Given the description of an element on the screen output the (x, y) to click on. 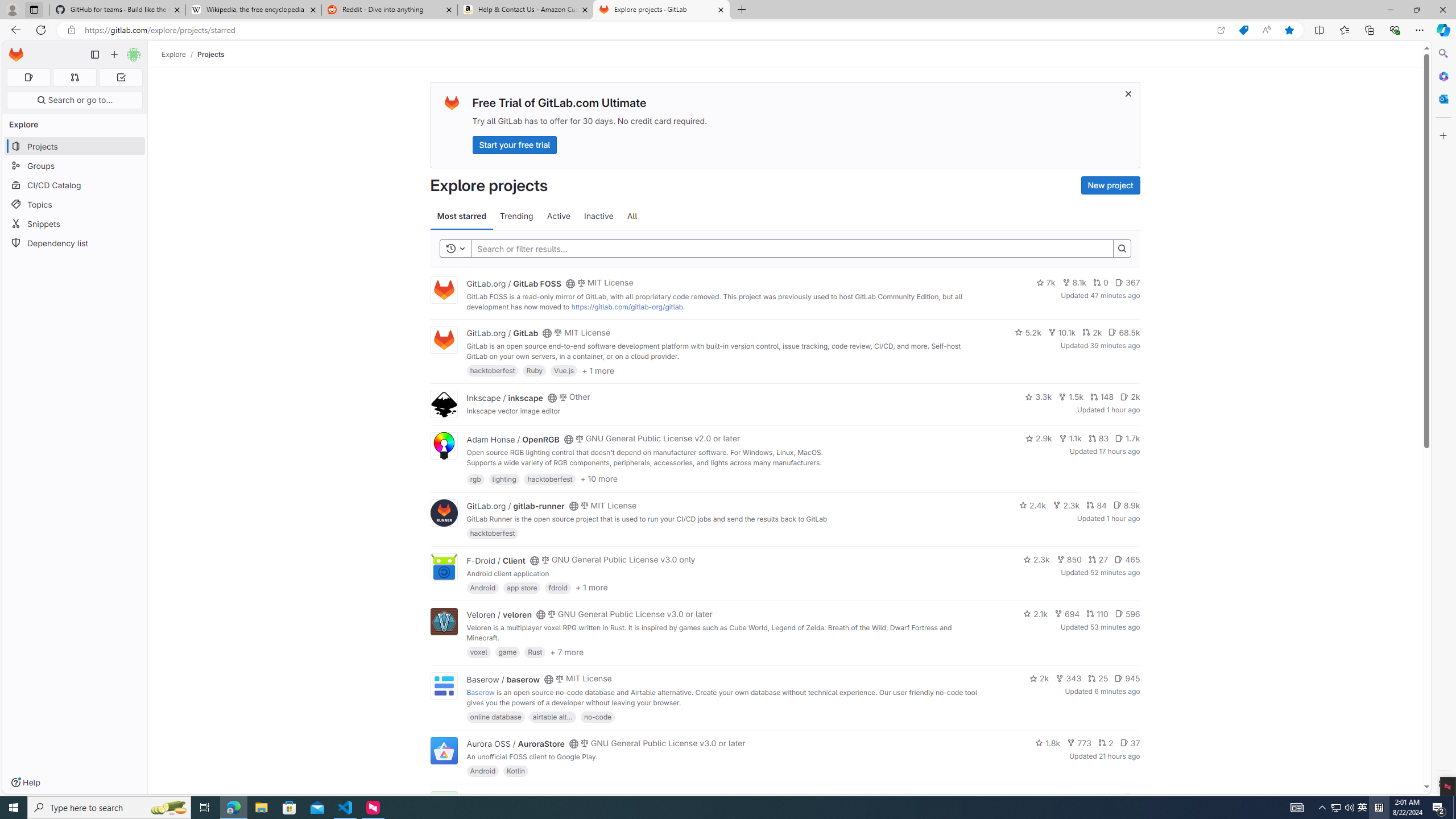
GitLab.org / GitLab FOSS (513, 283)
5.2k (1027, 331)
F (443, 805)
Baserow / baserow (502, 678)
New project (1110, 185)
Explore (173, 53)
GitLab.org / GitLab (501, 333)
